Given the description of an element on the screen output the (x, y) to click on. 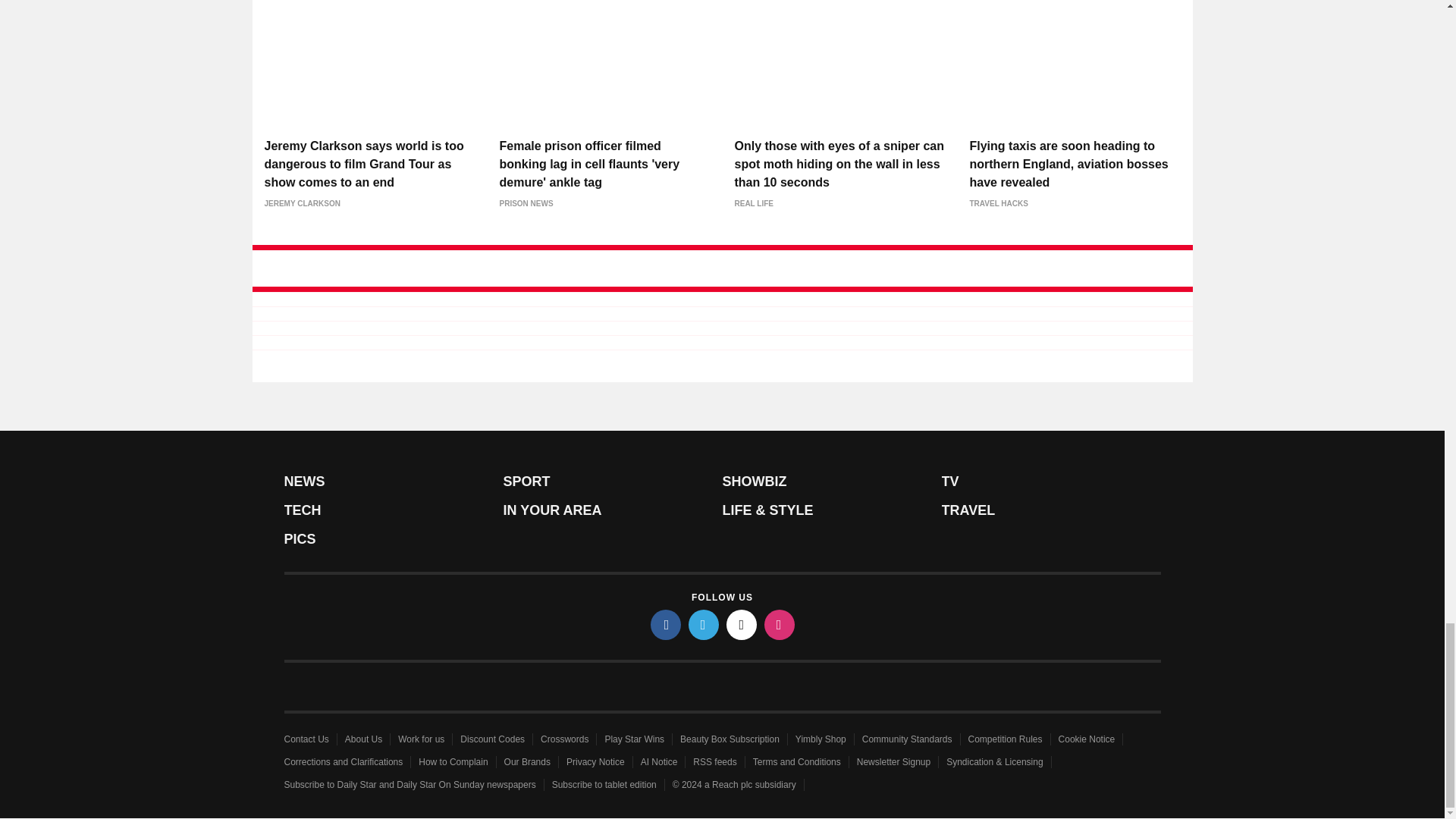
twitter (703, 624)
facebook (665, 624)
tiktok (741, 624)
instagram (779, 624)
